Given the description of an element on the screen output the (x, y) to click on. 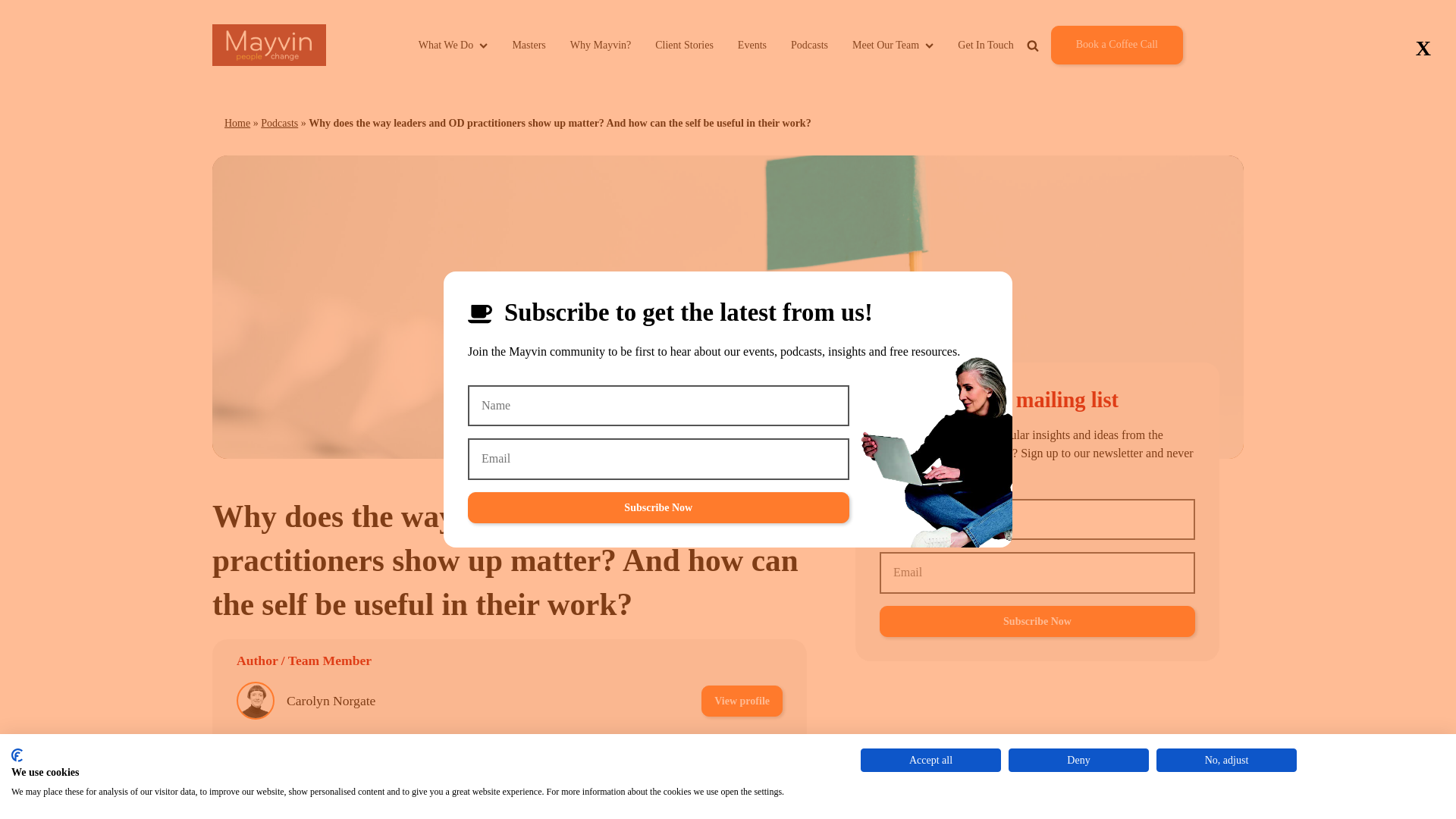
Client Stories (684, 45)
Podcasts (279, 122)
Podcasts (809, 45)
What We Do (453, 45)
Why Mayvin? (600, 45)
Book a Coffee Call (1116, 44)
X (1423, 48)
Martin Saville (324, 753)
Masters (528, 45)
Subscribe Now (657, 507)
View profile (742, 753)
Accept all (930, 760)
Organisation Development (513, 805)
Get In Touch (985, 45)
Carolyn Norgate (330, 700)
